Given the description of an element on the screen output the (x, y) to click on. 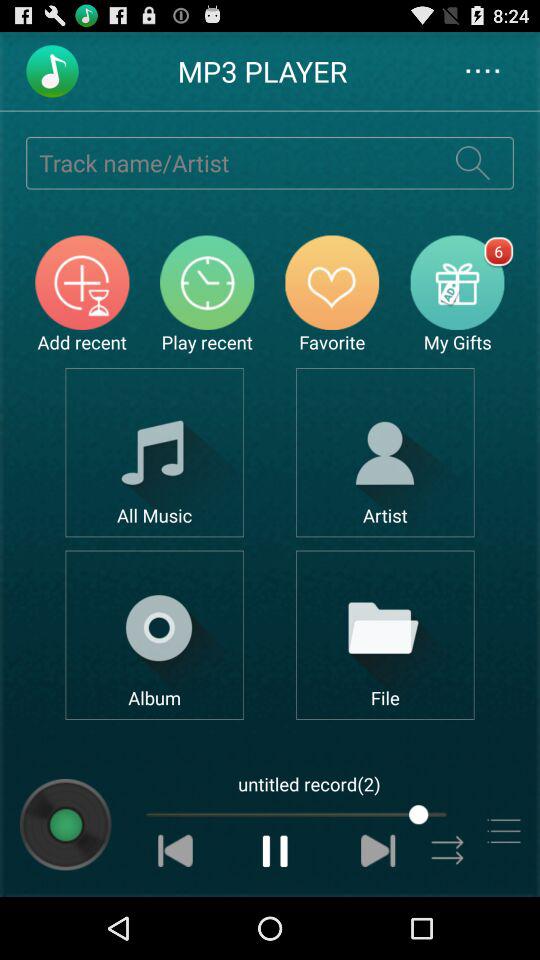
record (65, 824)
